Given the description of an element on the screen output the (x, y) to click on. 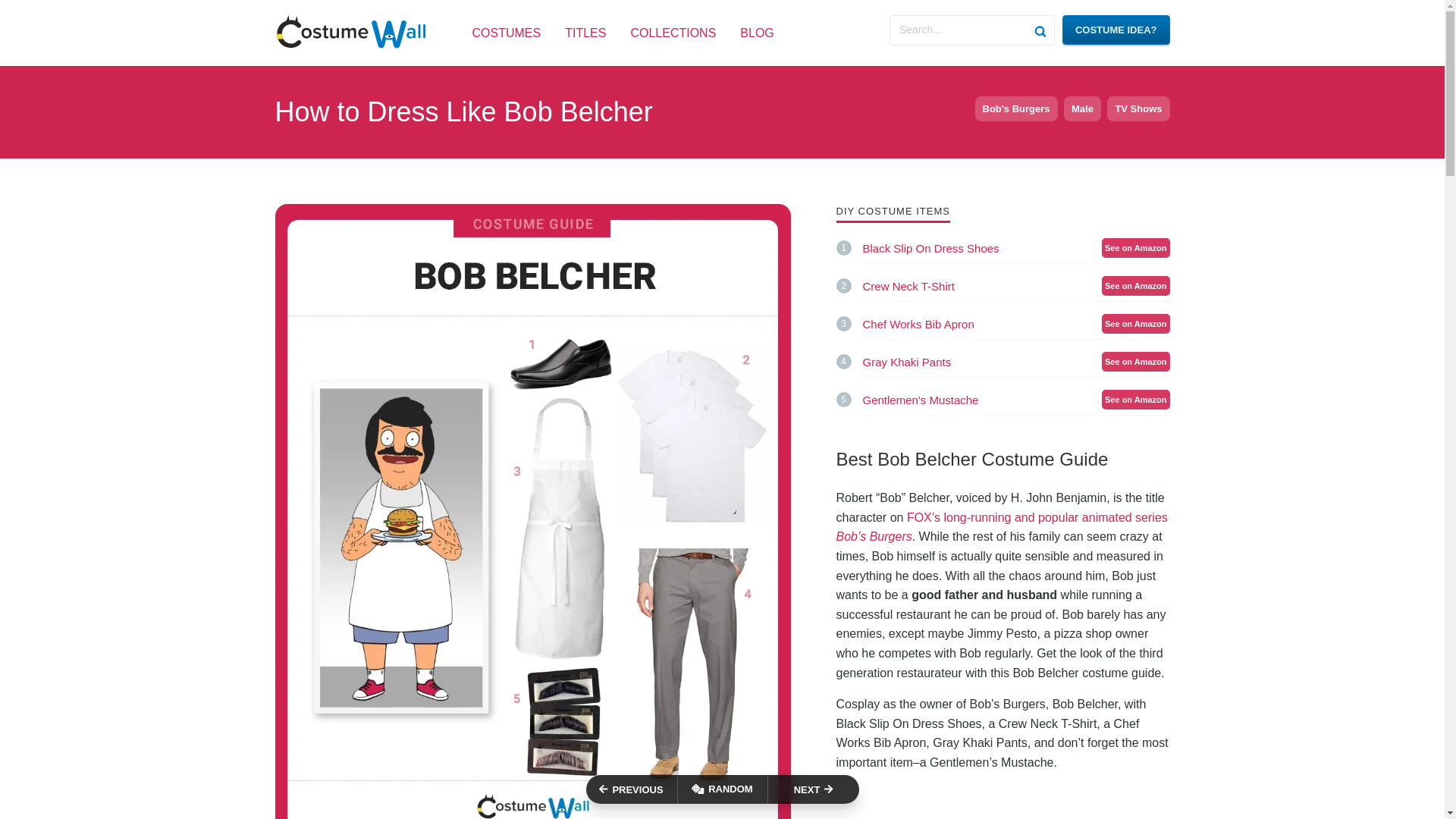
PREVIOUS (631, 789)
Gentlemen's Mustache (1016, 399)
TITLES (584, 33)
Costumes (505, 33)
Male (1082, 108)
Black Slip On Dress Shoes (1016, 247)
Costume Collections (673, 33)
Costume Wall Blog (1016, 399)
RANDOM (756, 33)
COSTUME IDEA? (1016, 247)
COLLECTIONS (722, 789)
Chef Works Bib Apron (1116, 30)
NEXT (673, 33)
